Given the description of an element on the screen output the (x, y) to click on. 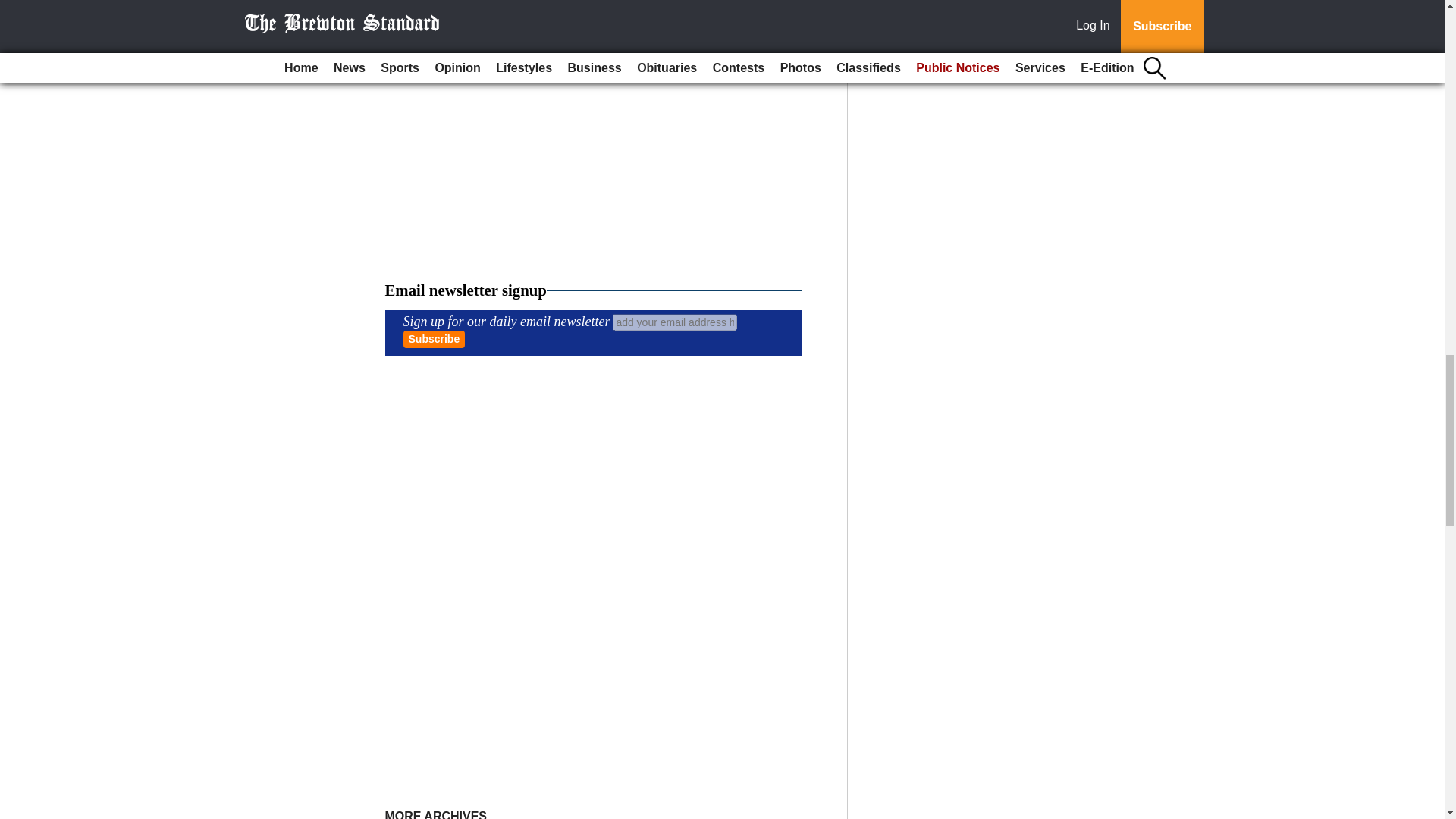
Subscribe (434, 339)
Subscribe (434, 339)
